Given the description of an element on the screen output the (x, y) to click on. 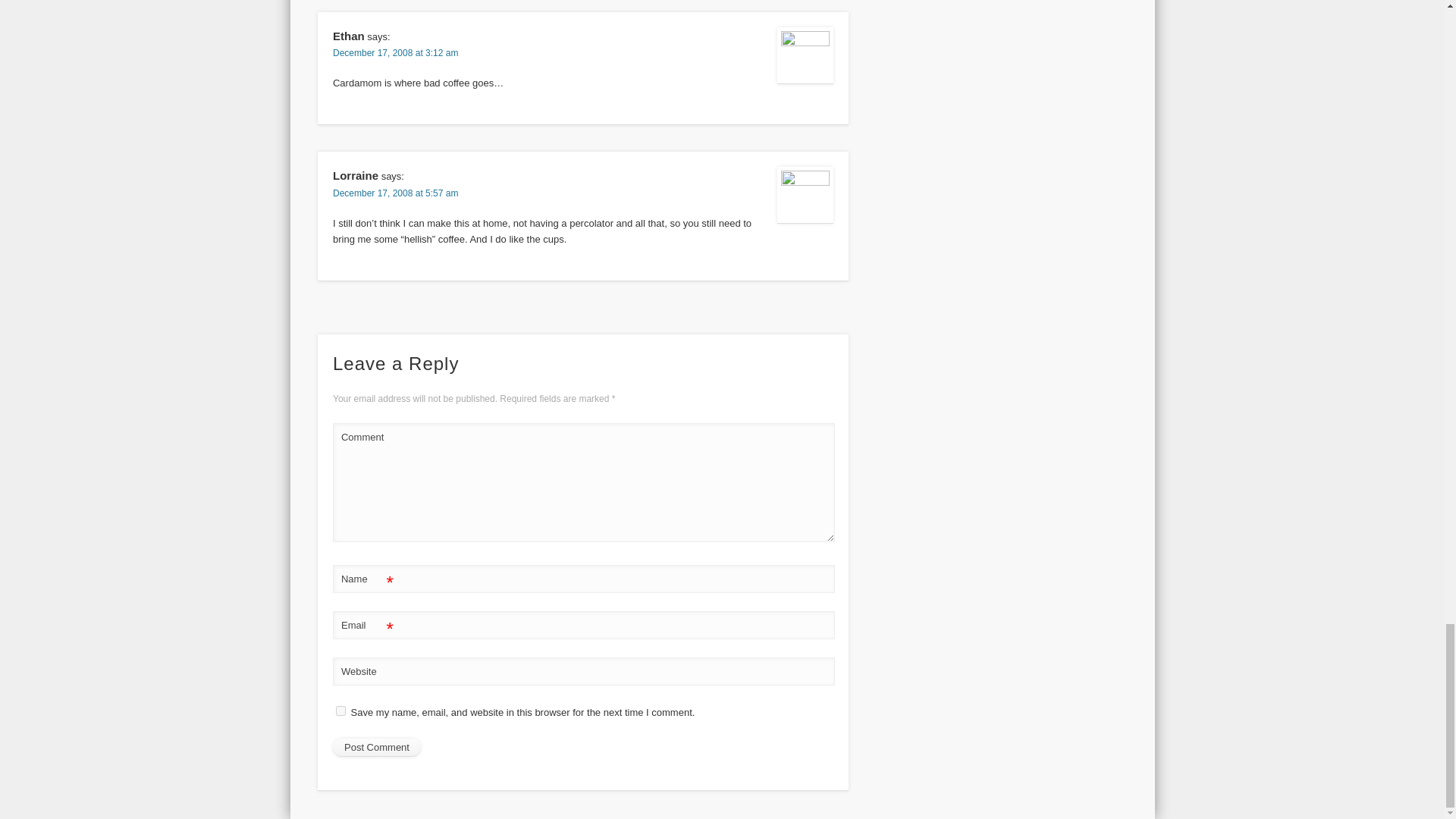
Post Comment (376, 747)
yes (341, 710)
